Given the description of an element on the screen output the (x, y) to click on. 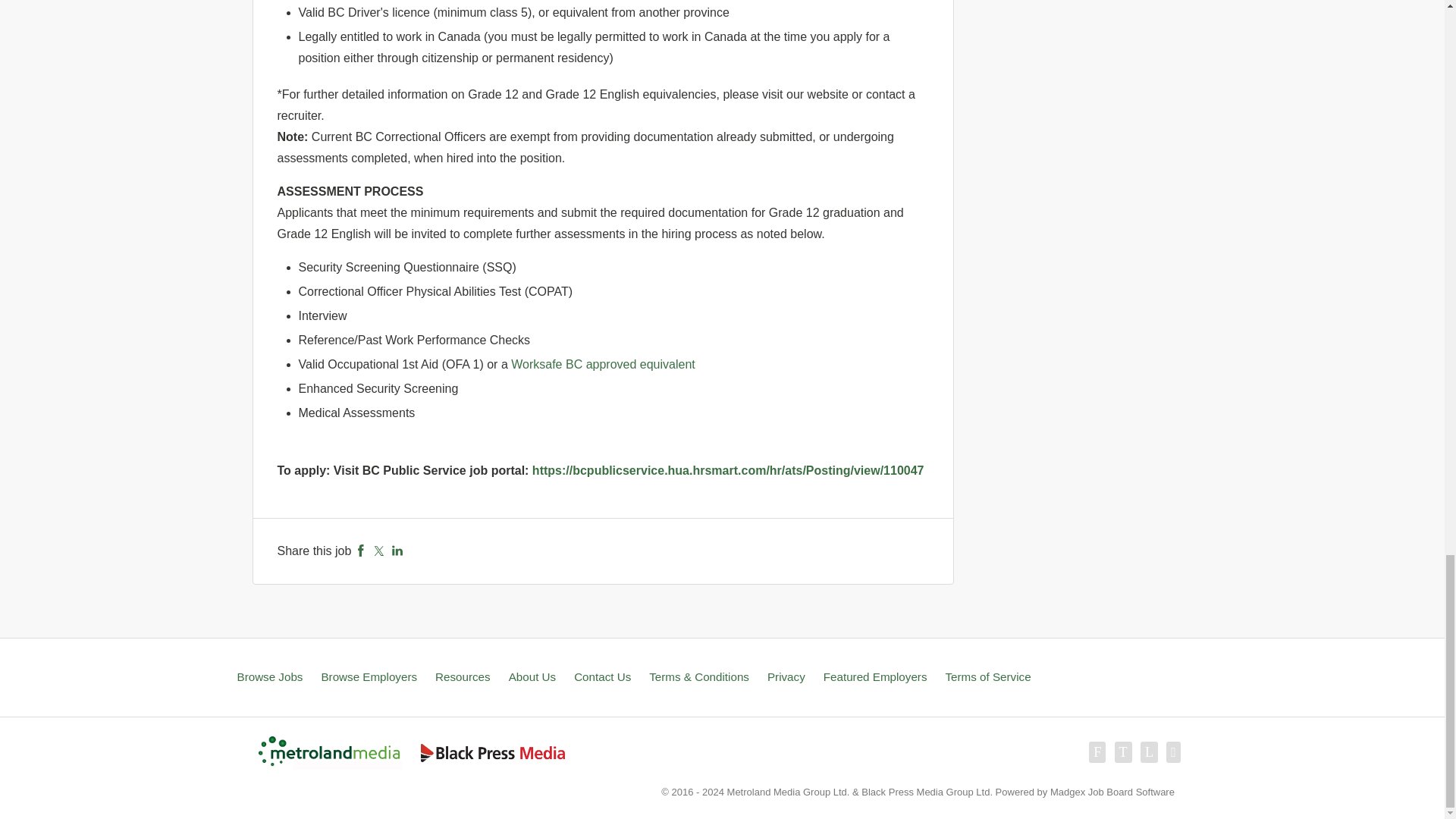
Facebook (360, 550)
LinkedIn (397, 550)
Browse Jobs (268, 676)
Twitter (378, 550)
Worksafe BC approved equivalent (603, 364)
